Given the description of an element on the screen output the (x, y) to click on. 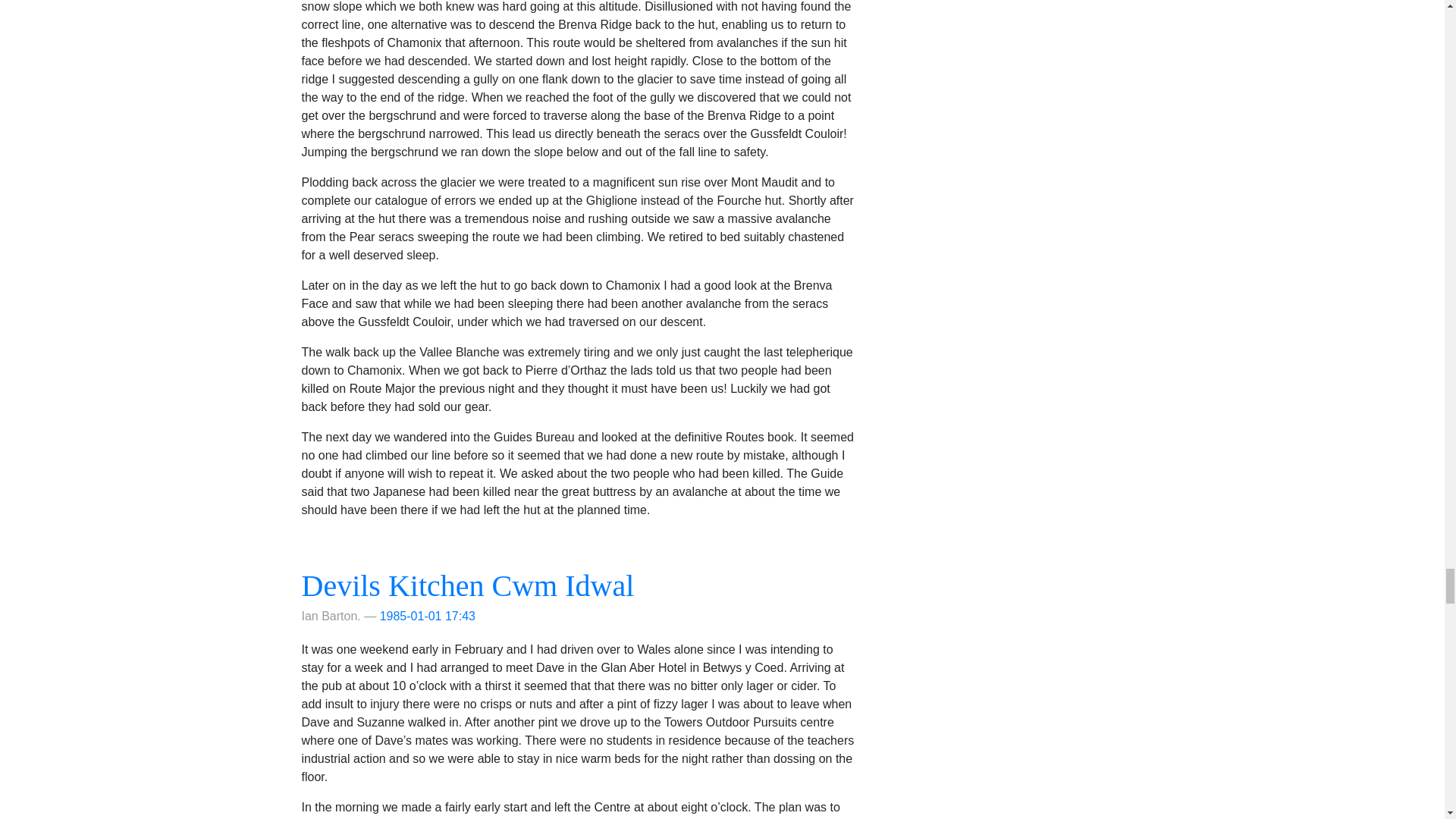
1985-01-01 17:43 (428, 615)
1985-01-01 17:43 (428, 615)
Devils Kitchen Cwm Idwal (467, 585)
